Given the description of an element on the screen output the (x, y) to click on. 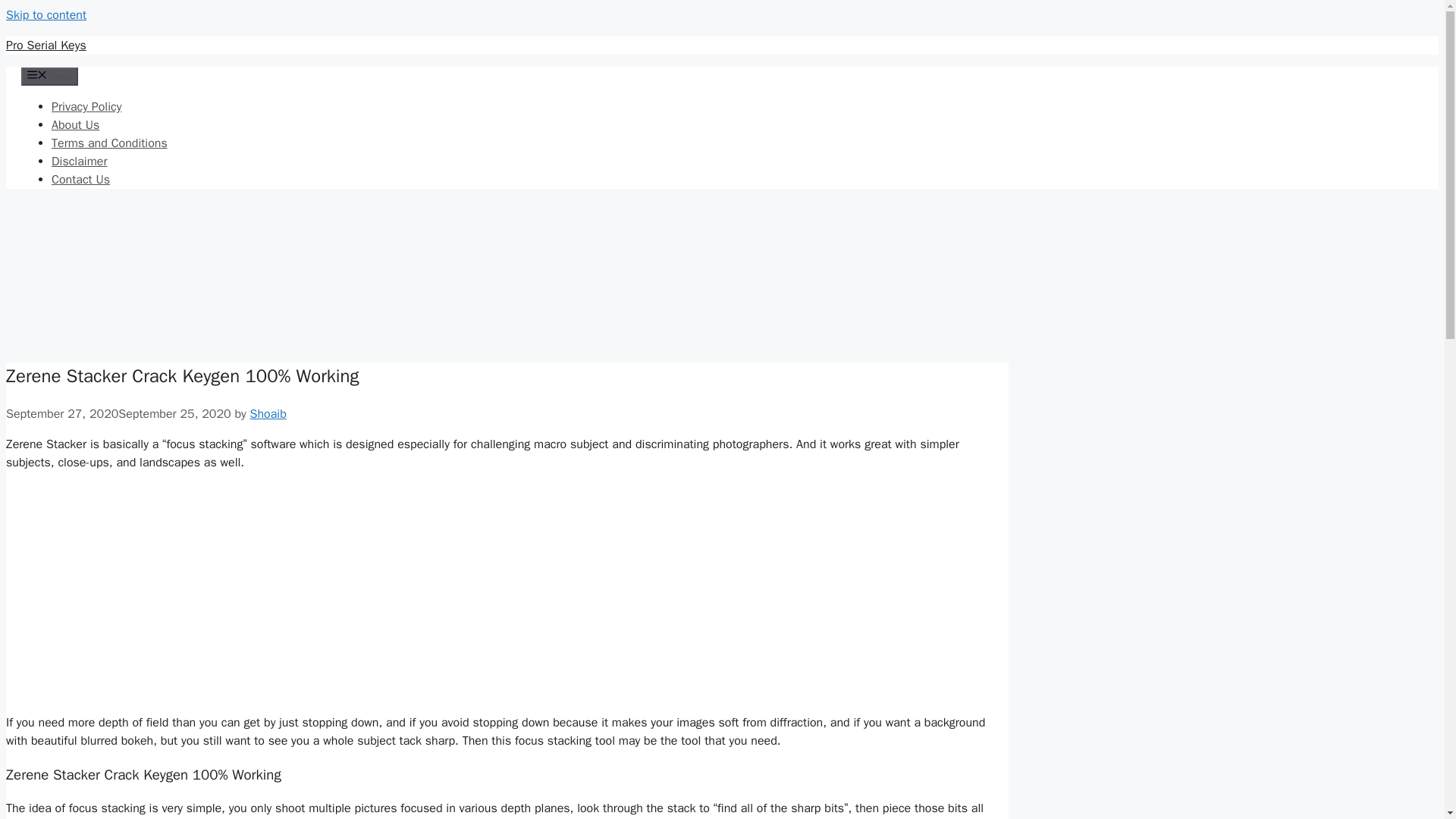
Contact Us (80, 179)
Skip to content (45, 14)
Skip to content (45, 14)
Pro Serial Keys (45, 45)
Terms and Conditions (108, 142)
Privacy Policy (85, 106)
View all posts by Shoaib (268, 413)
Menu (49, 76)
About Us (74, 124)
Shoaib (268, 413)
Disclaimer (78, 160)
